Given the description of an element on the screen output the (x, y) to click on. 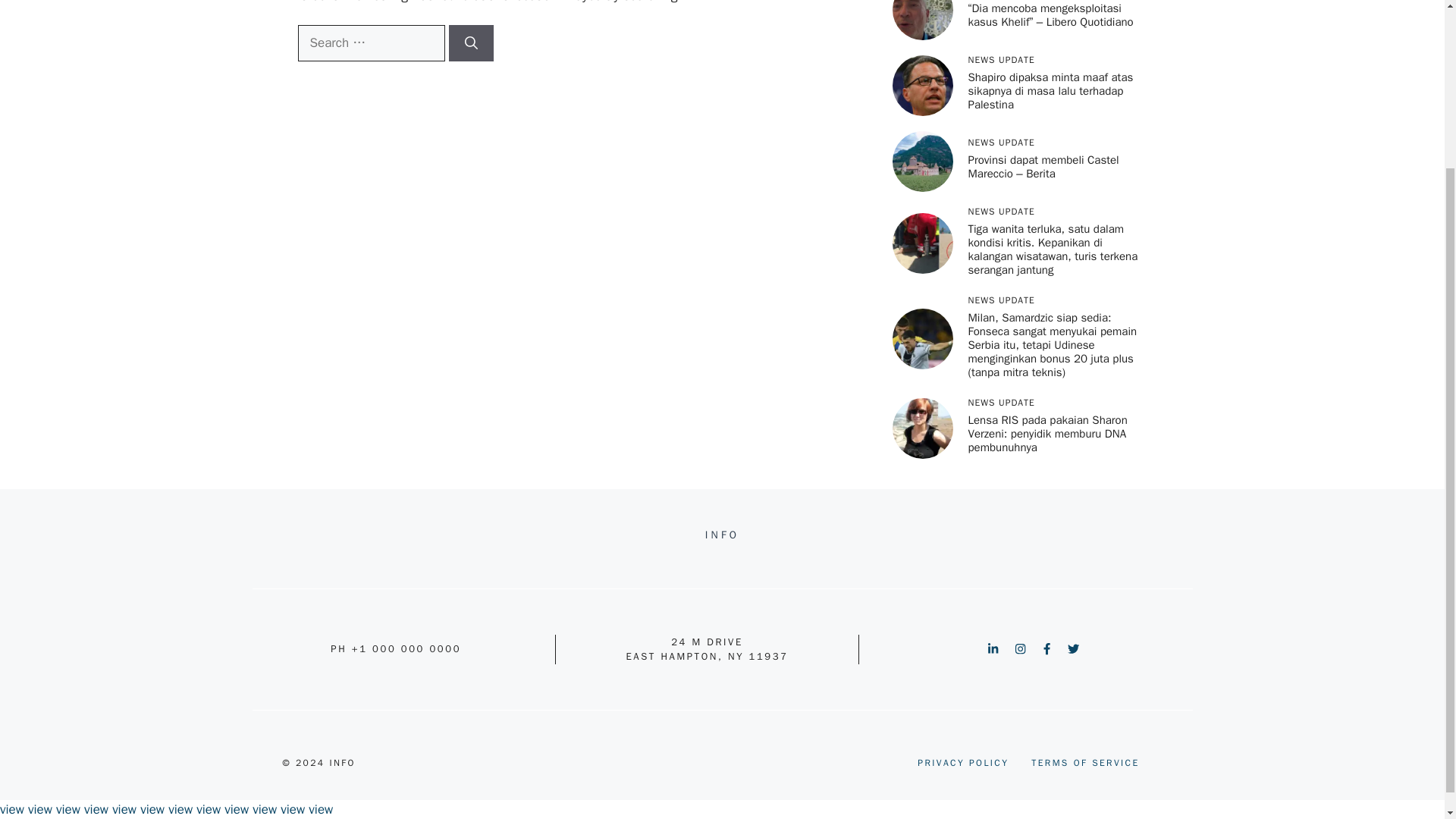
PRIVACY POLICY (963, 762)
Search for: (370, 43)
TERMS OF SERVICE (1084, 762)
view (12, 809)
view (39, 809)
